Given the description of an element on the screen output the (x, y) to click on. 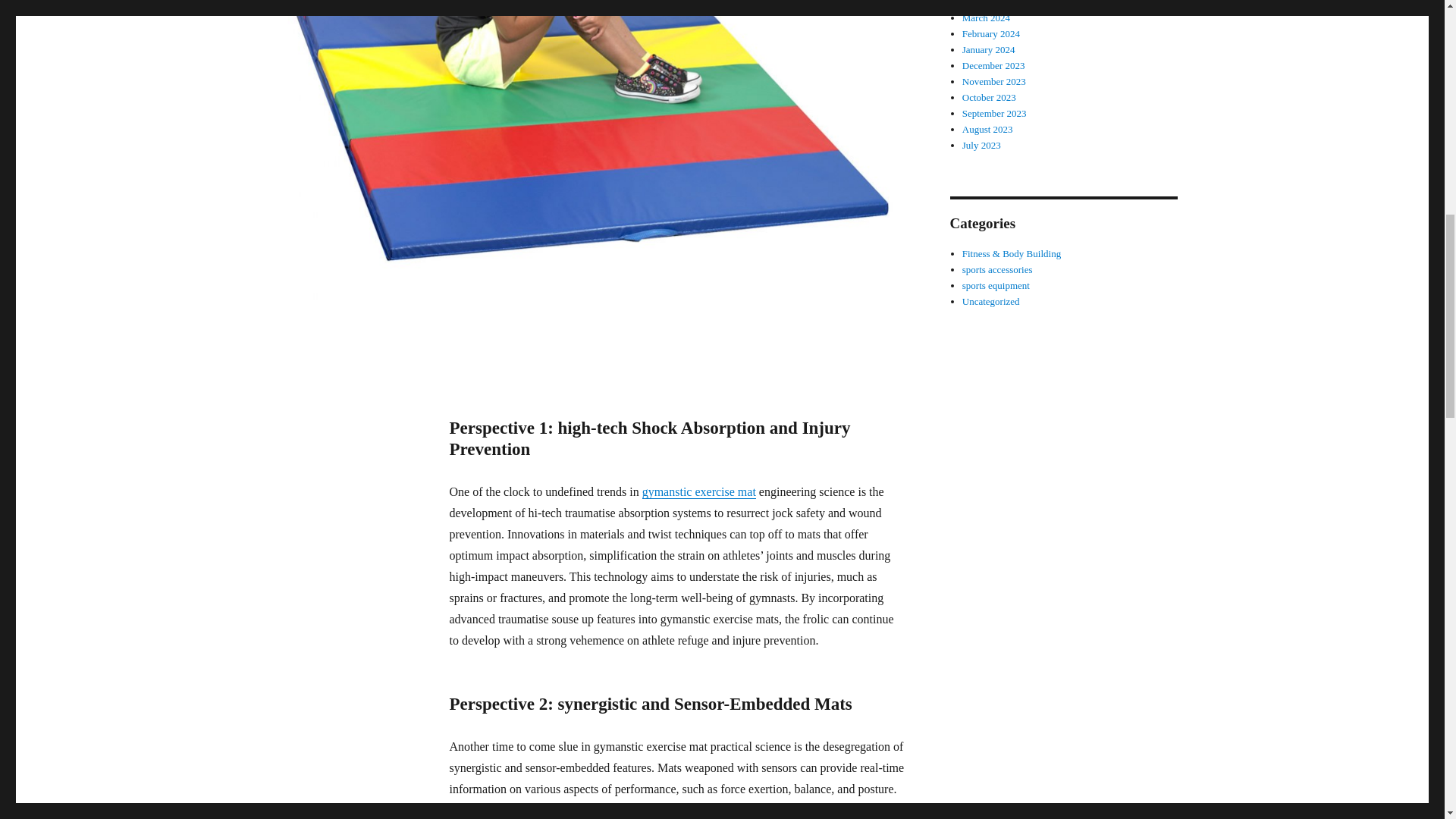
sports equipment (995, 285)
August 2023 (987, 129)
Uncategorized (991, 301)
October 2023 (989, 97)
January 2024 (988, 49)
July 2023 (981, 144)
gymanstic exercise mat (698, 491)
February 2024 (991, 33)
April 2024 (984, 3)
September 2023 (994, 112)
March 2024 (986, 17)
November 2023 (994, 81)
sports accessories (997, 269)
December 2023 (993, 65)
